Given the description of an element on the screen output the (x, y) to click on. 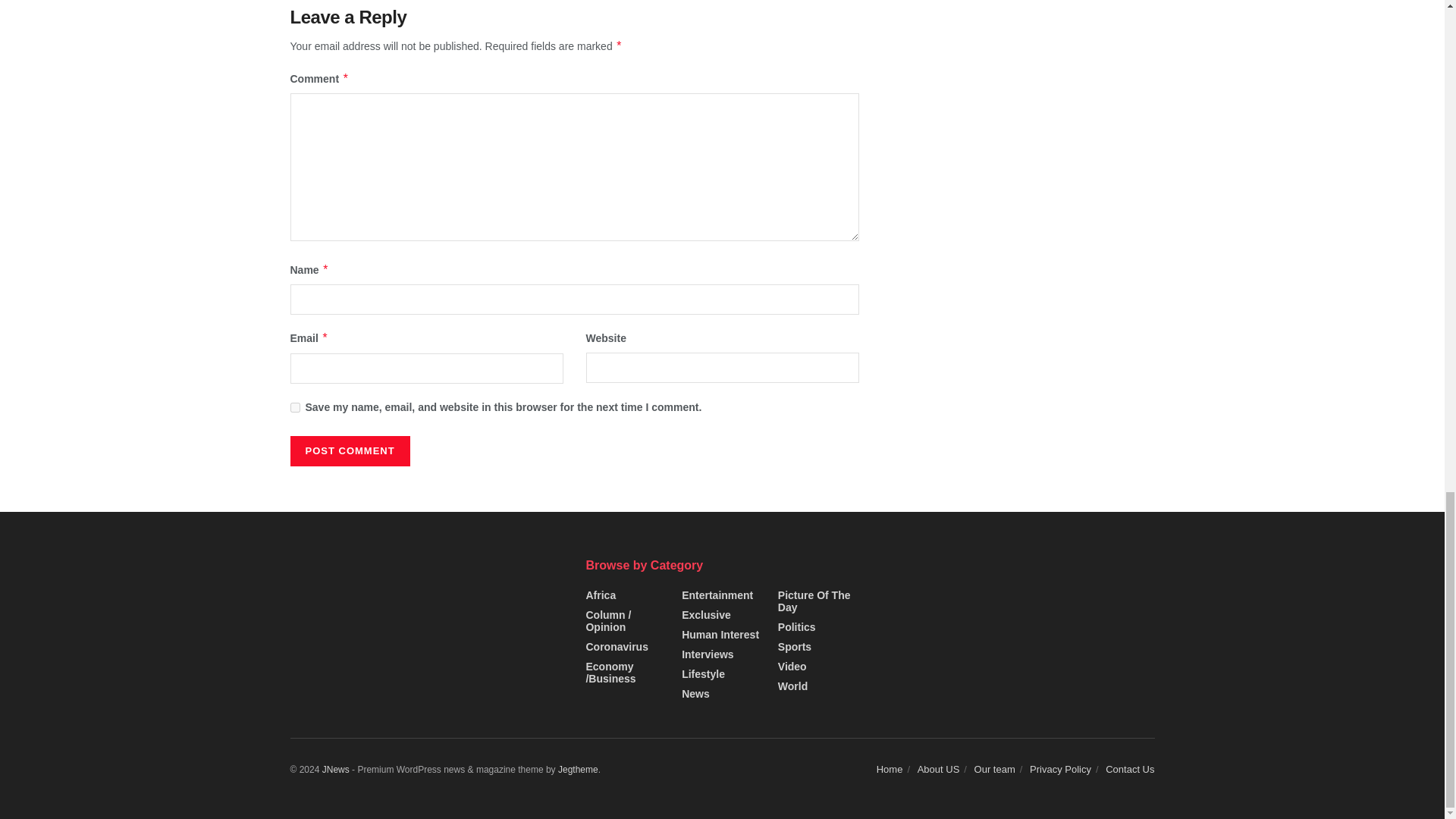
Jegtheme (577, 769)
Post Comment (349, 450)
yes (294, 407)
